Given the description of an element on the screen output the (x, y) to click on. 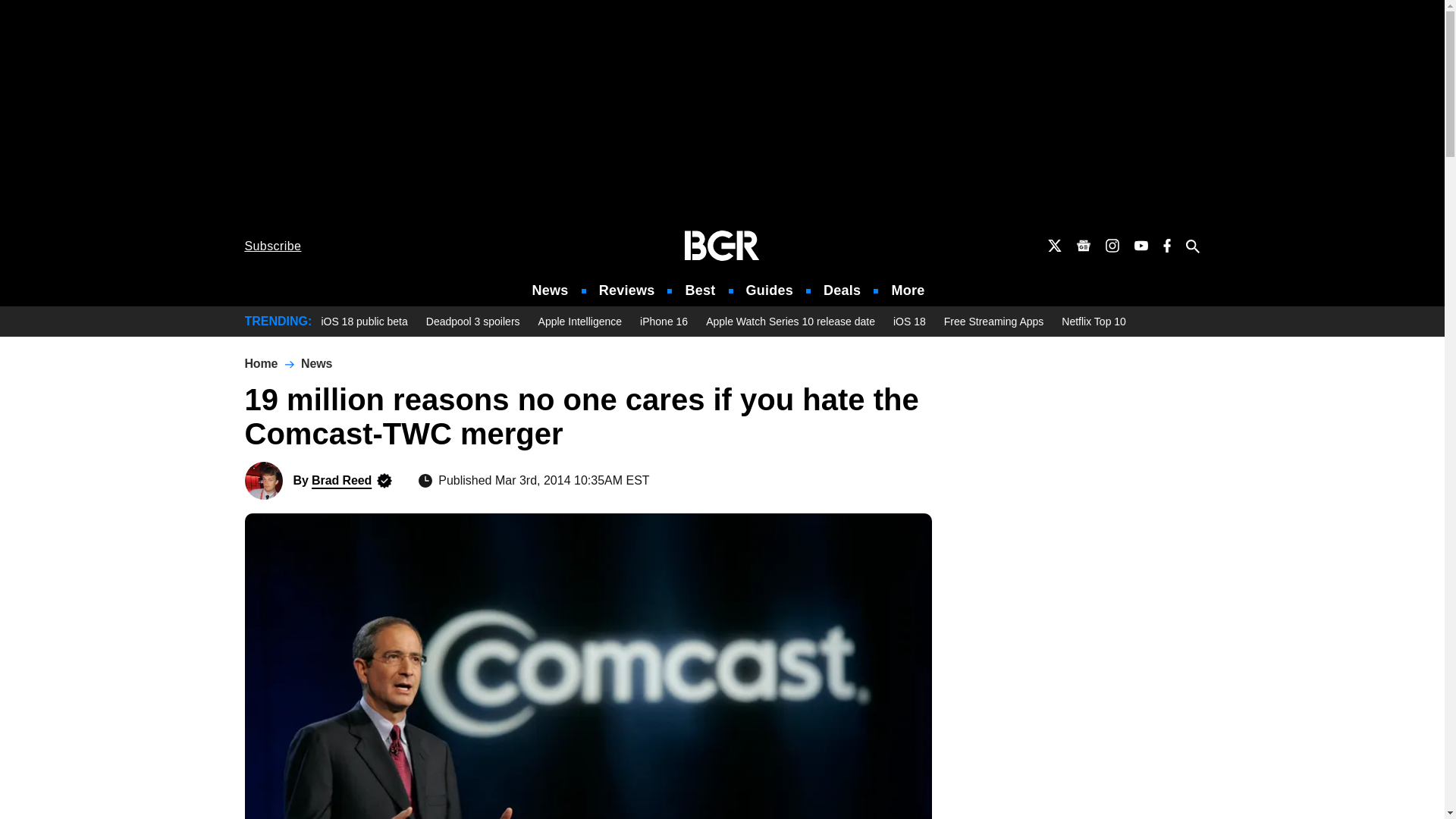
Best (699, 290)
News (550, 290)
Posts by Brad Reed (341, 480)
More (907, 290)
Subscribe (272, 245)
Deals (842, 290)
Reviews (626, 290)
Guides (769, 290)
